Given the description of an element on the screen output the (x, y) to click on. 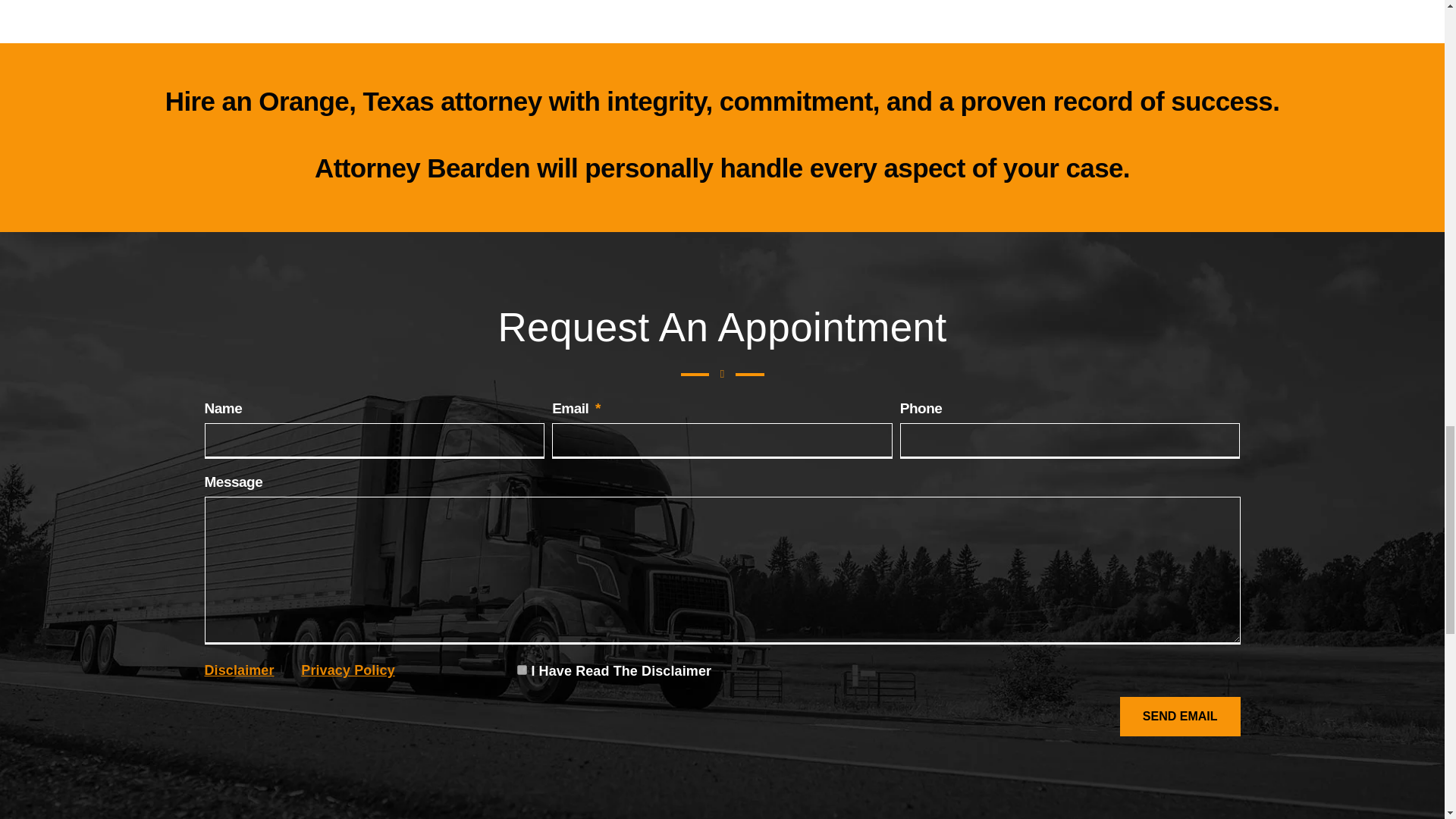
on (521, 669)
